Given the description of an element on the screen output the (x, y) to click on. 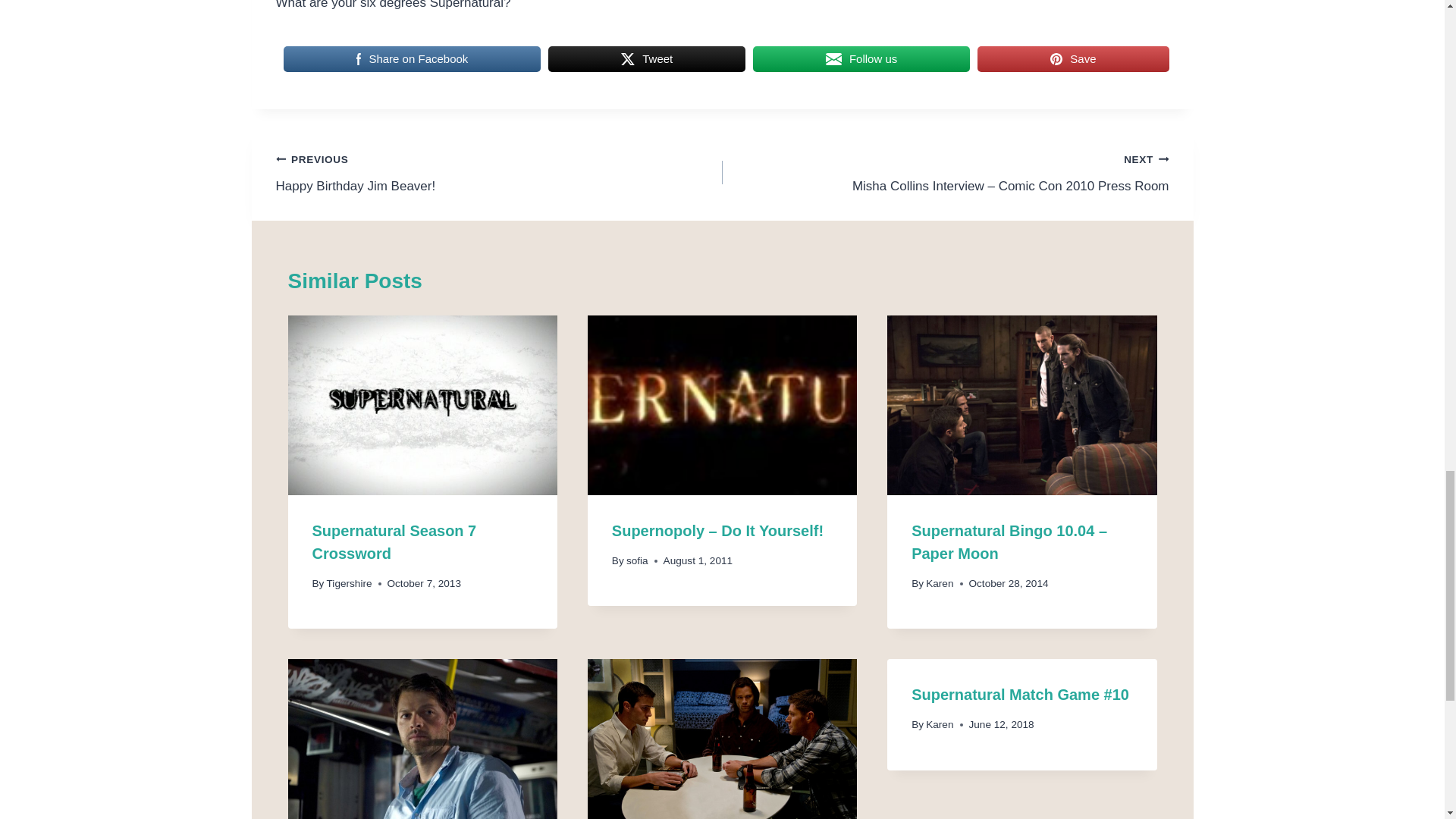
Share on Facebook (412, 59)
Supernatural Season 7 Crossword (499, 172)
Save (395, 541)
Tweet (1072, 59)
Tigershire (646, 59)
Follow us (349, 583)
